Given the description of an element on the screen output the (x, y) to click on. 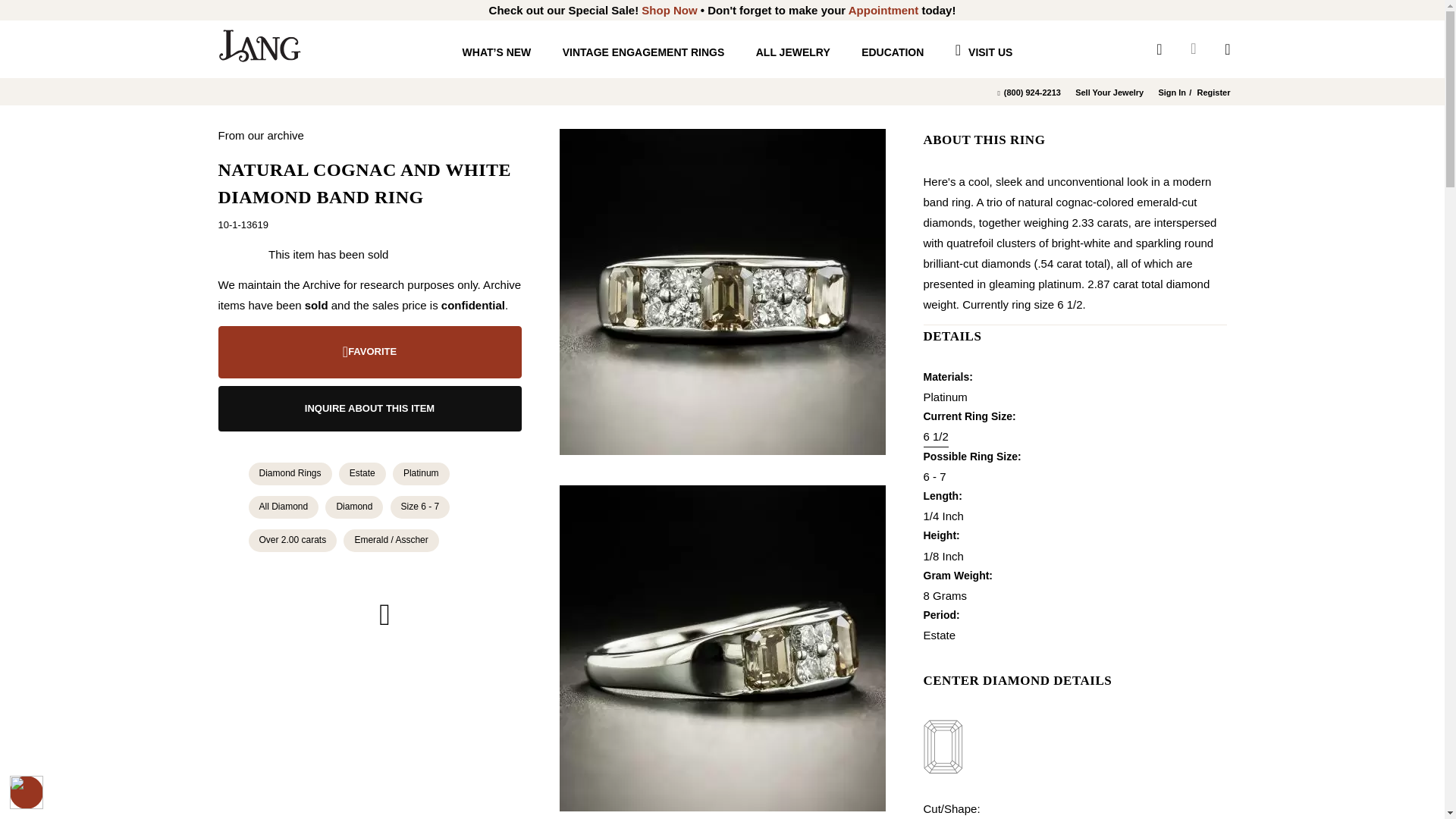
VINTAGE ENGAGEMENT RINGS (643, 64)
Appointment (883, 10)
Shop Now (669, 10)
Accessibility Menu (26, 792)
